Given the description of an element on the screen output the (x, y) to click on. 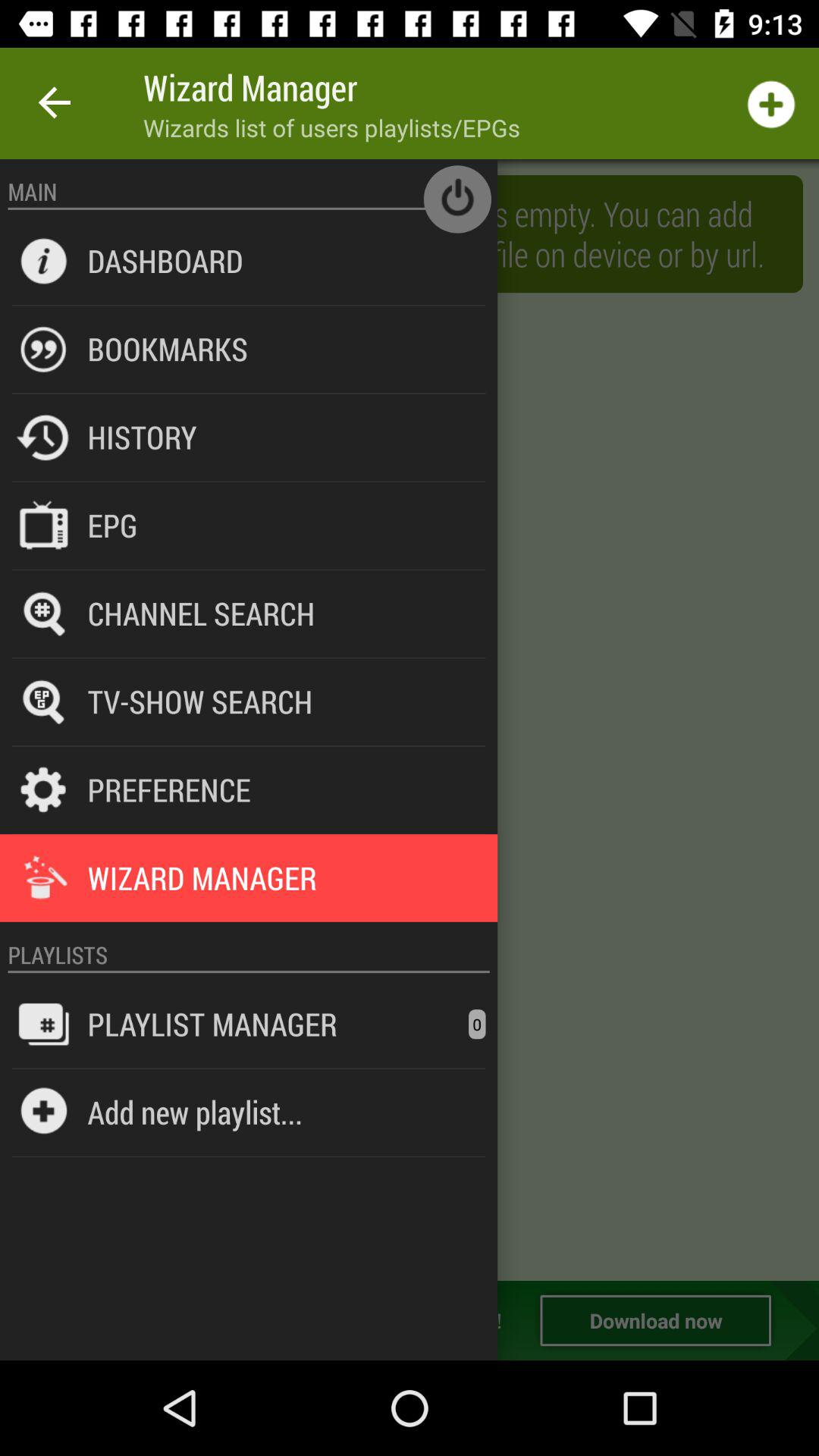
open 0 (476, 1024)
